Given the description of an element on the screen output the (x, y) to click on. 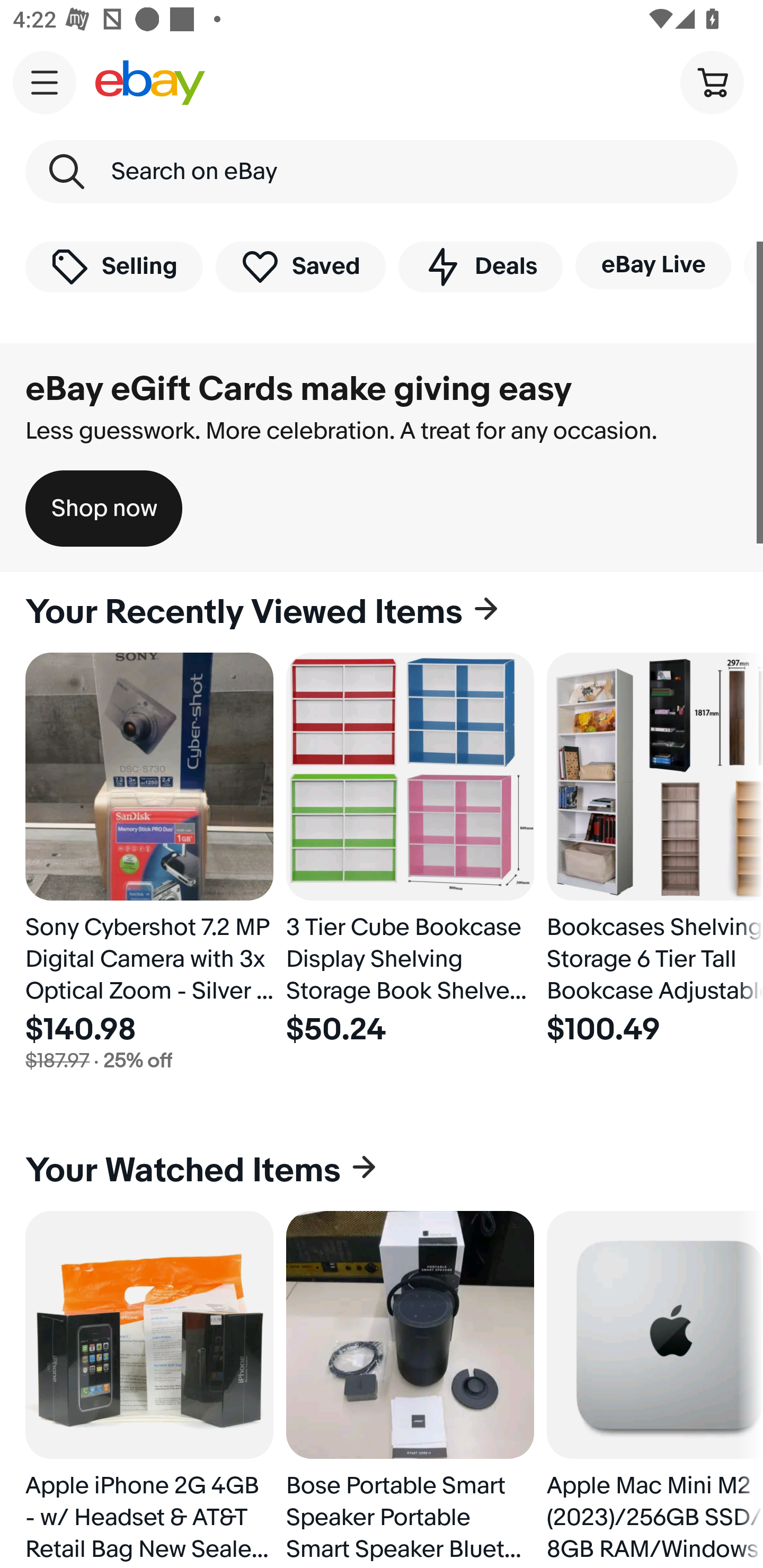
Main navigation, open (44, 82)
Cart button shopping cart (711, 81)
Search on eBay Search Keyword Search on eBay (381, 171)
Selling (113, 266)
Saved (300, 266)
Deals (480, 266)
eBay Live (652, 264)
eBay eGift Cards make giving easy (298, 389)
Shop now (103, 508)
Your Recently Viewed Items   (381, 612)
Your Watched Items   (381, 1170)
